Given the description of an element on the screen output the (x, y) to click on. 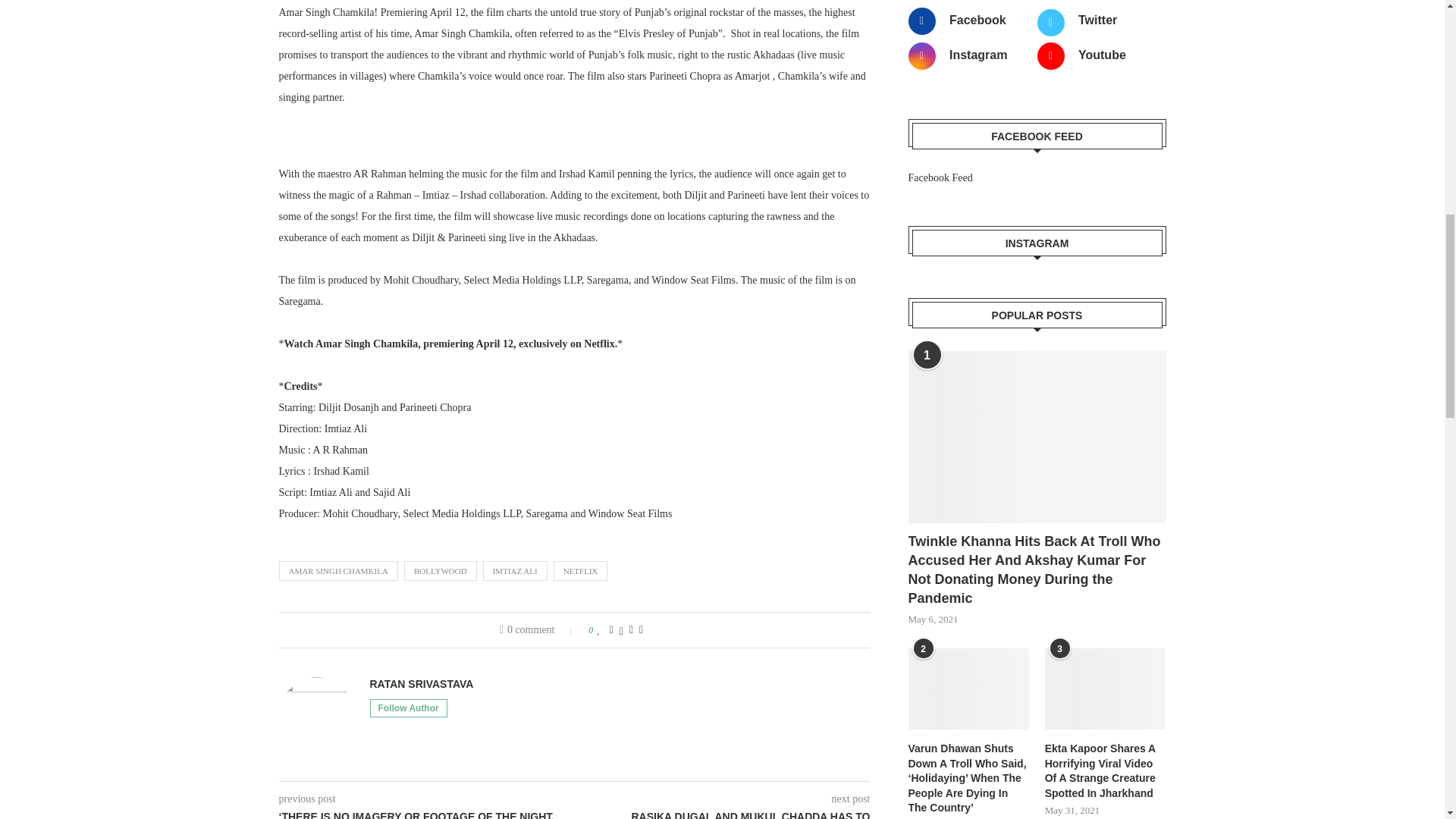
RATAN SRIVASTAVA (421, 684)
AMAR SINGH CHAMKILA (338, 570)
IMTIAZ ALI (515, 570)
Author Ratan Srivastava (421, 684)
Follow Author (407, 708)
NETFLIX (580, 570)
BOLLYWOOD (440, 570)
